Given the description of an element on the screen output the (x, y) to click on. 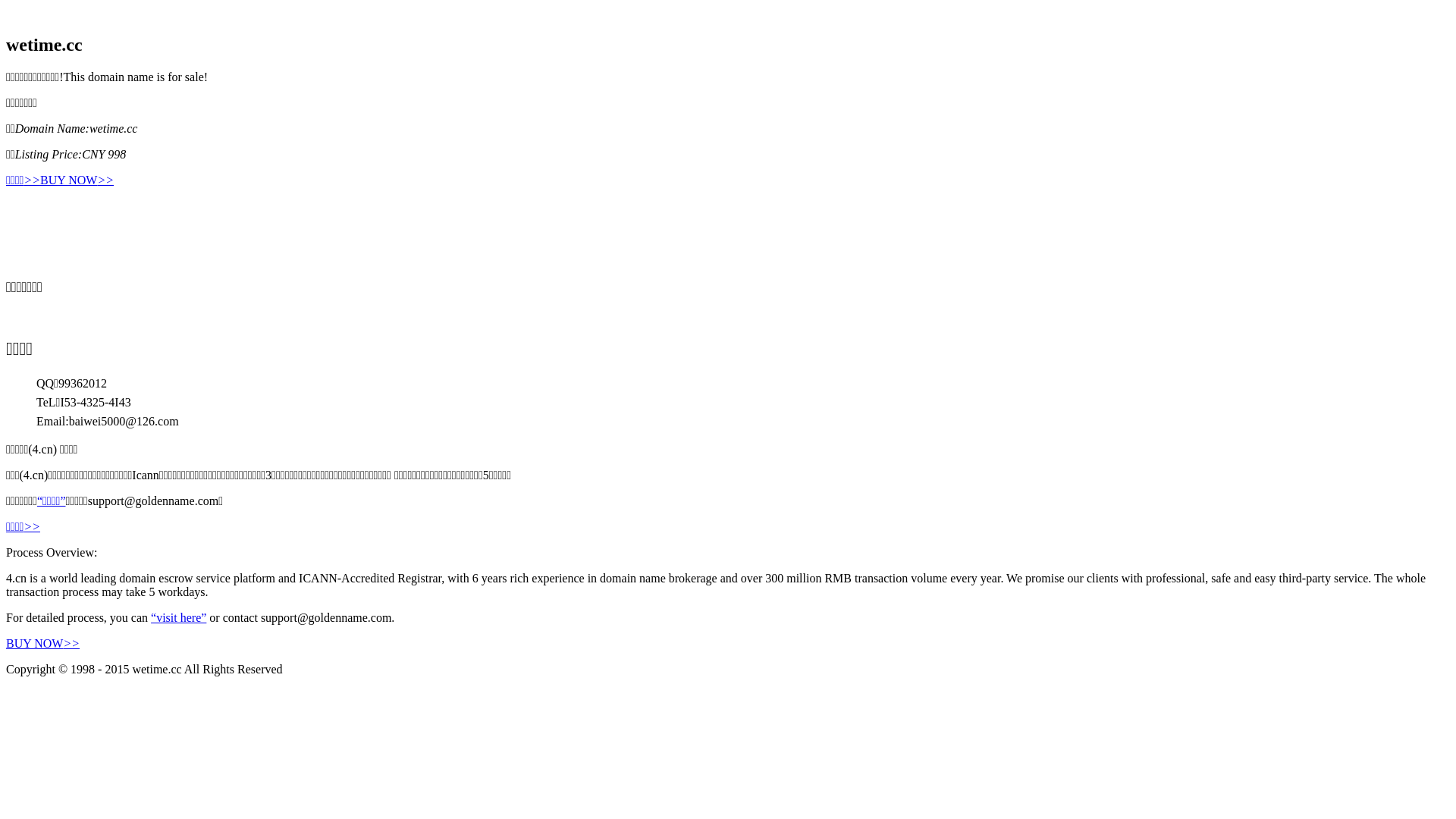
BUY NOW>> Element type: text (42, 643)
BUY NOW>> Element type: text (76, 180)
